Given the description of an element on the screen output the (x, y) to click on. 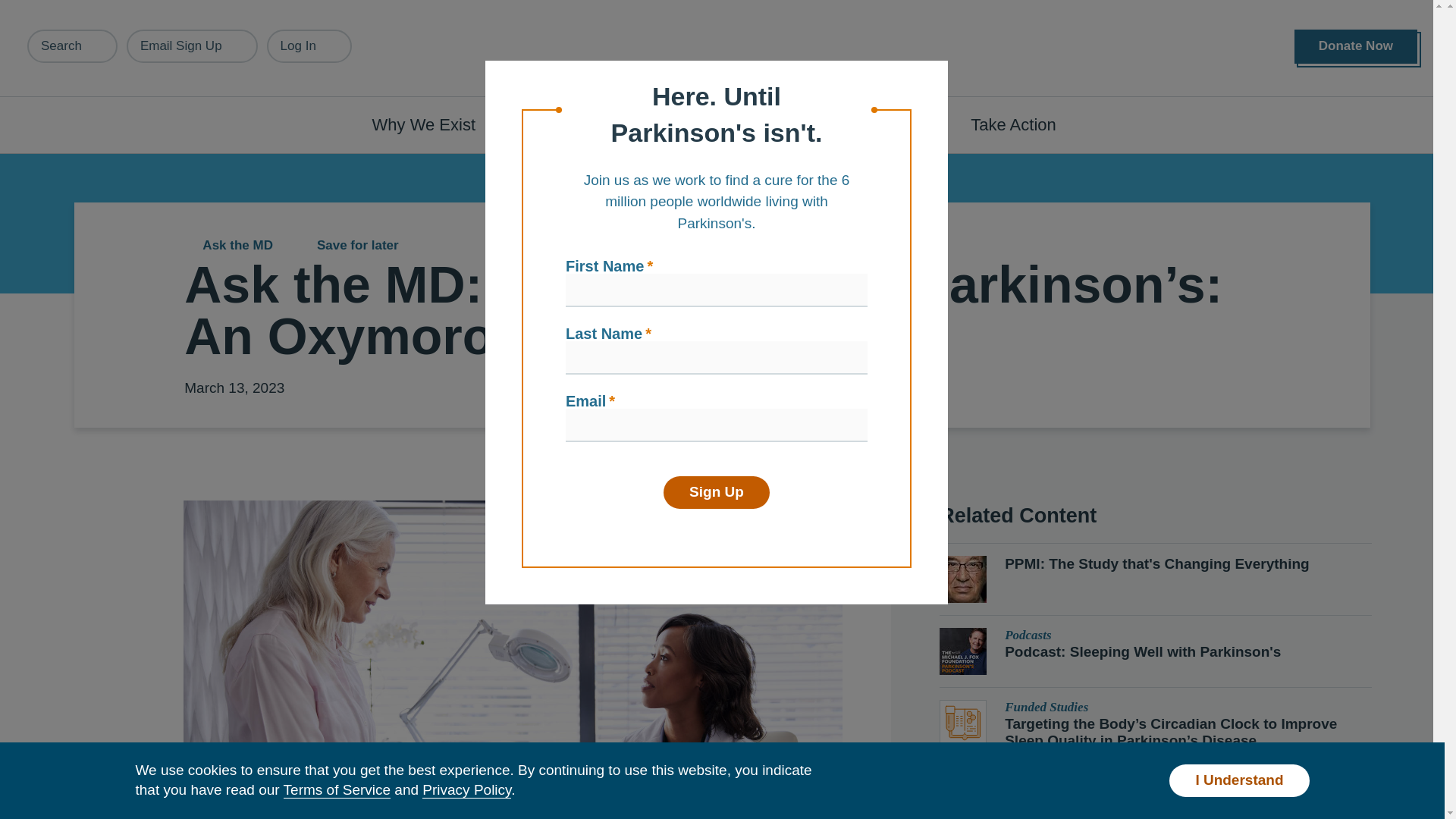
Email Sign Up (191, 46)
Home Page (722, 48)
Why We Exist (432, 125)
Search (72, 46)
Skip to main content (96, 7)
Log In (309, 46)
Understanding Parkinson's (640, 125)
Donate Now (1355, 46)
